Given the description of an element on the screen output the (x, y) to click on. 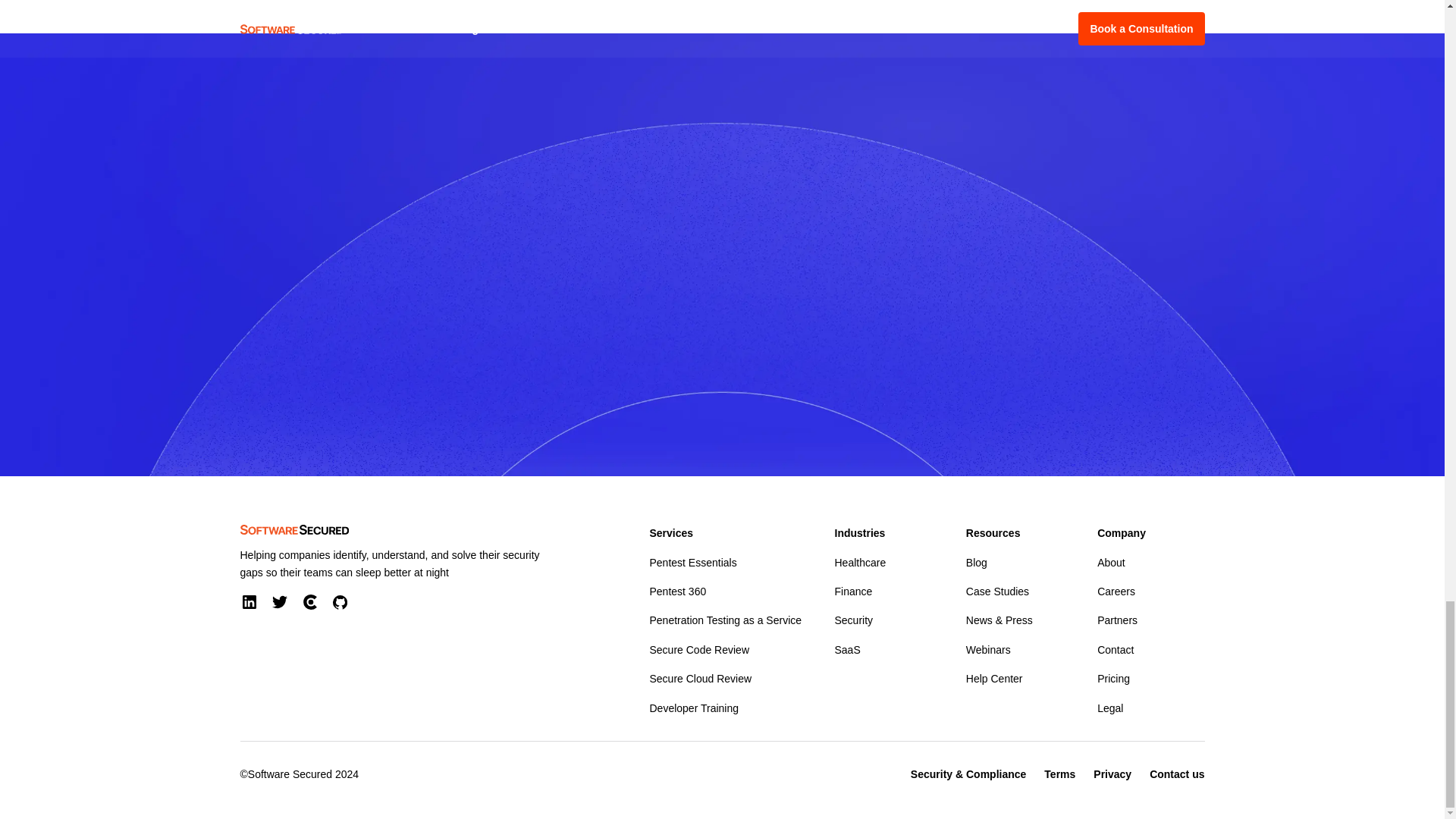
Penetration Testing as a Service (725, 619)
Secure Code Review (699, 649)
Pentest Essentials (692, 562)
Secure Cloud Review (700, 678)
Pentest 360 (677, 591)
